Given the description of an element on the screen output the (x, y) to click on. 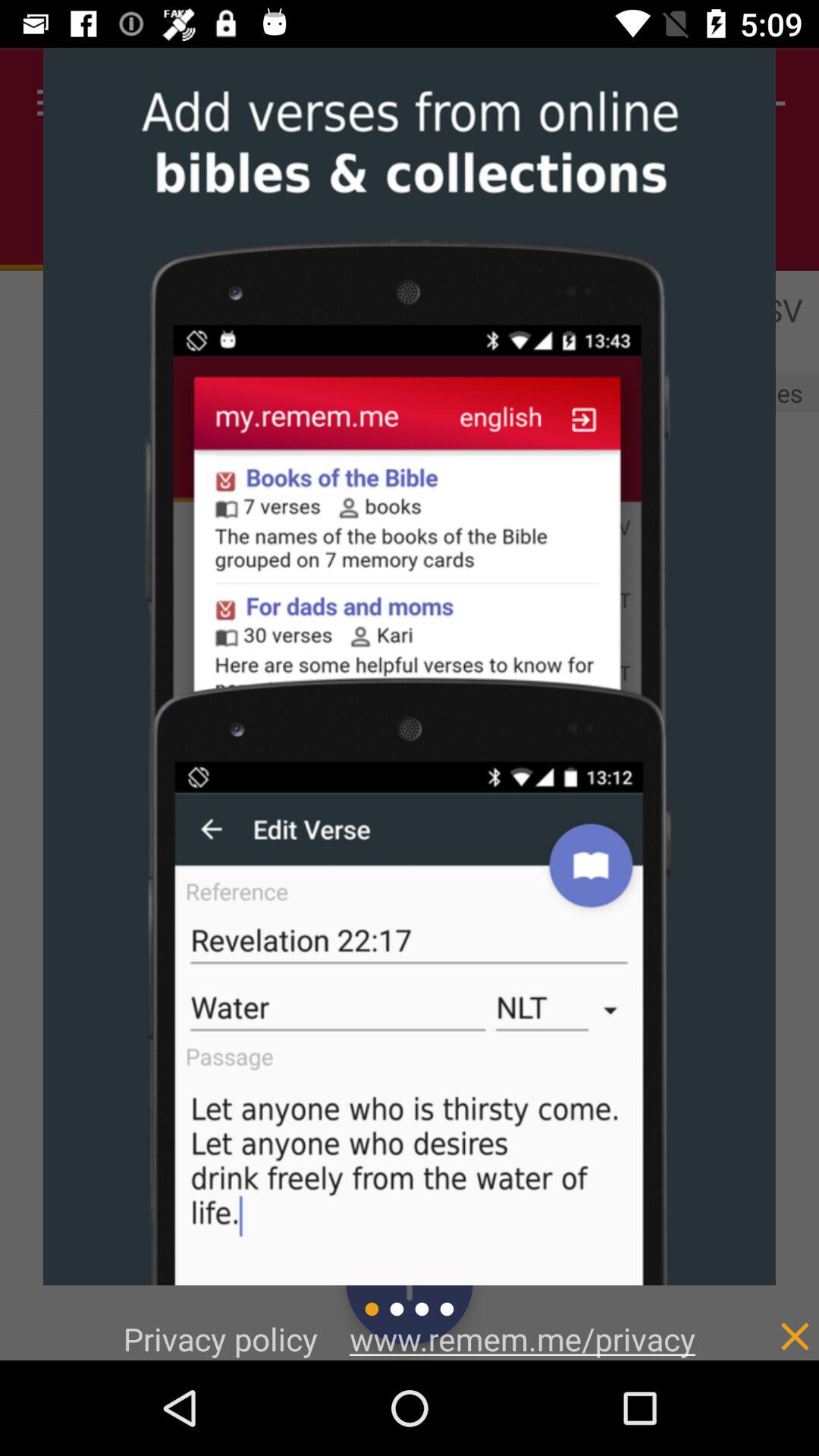
turn off item to the right of www remem me icon (763, 1320)
